Given the description of an element on the screen output the (x, y) to click on. 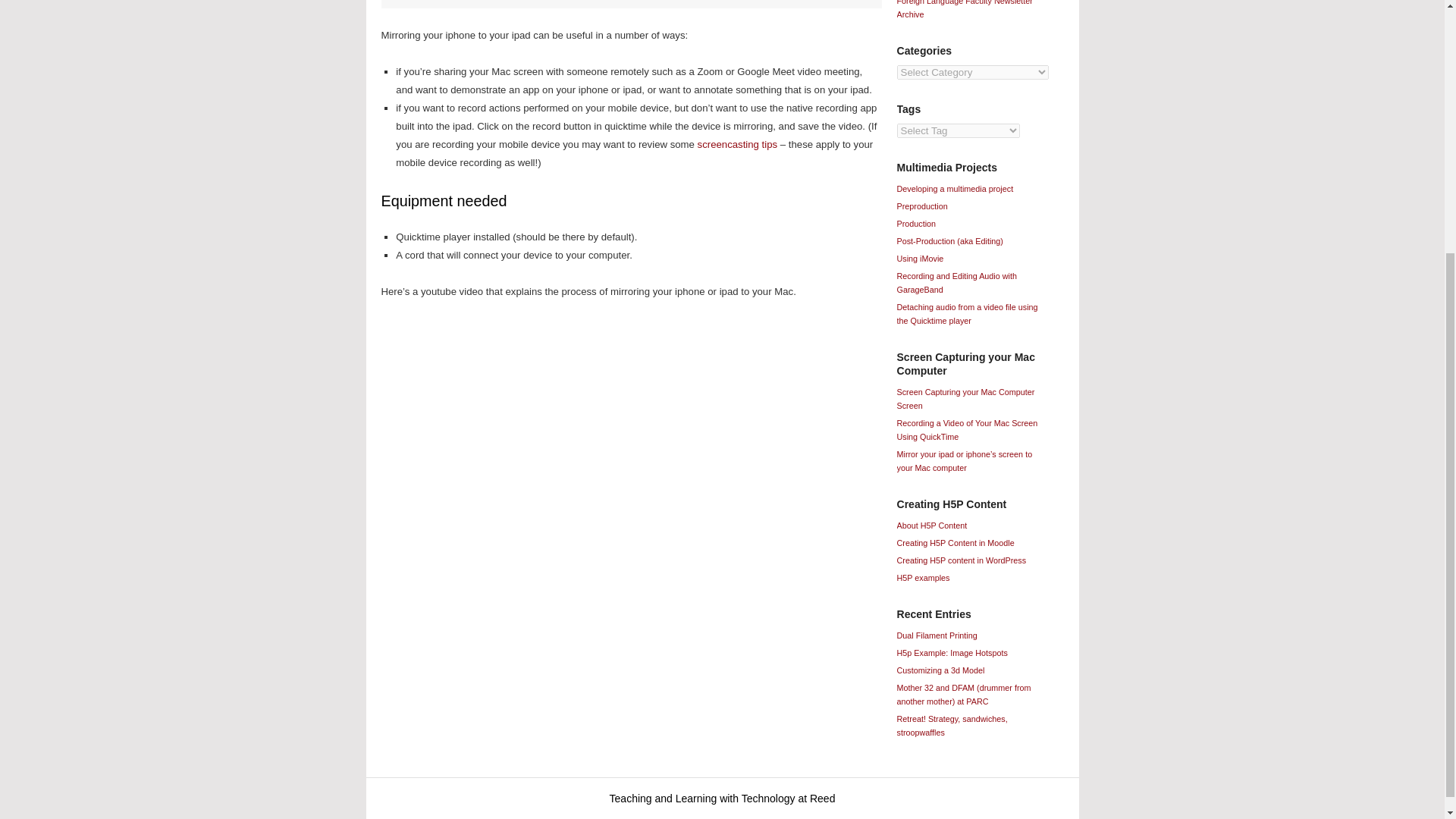
Screen Capturing your Mac Computer Screen (964, 398)
Foreign Language Faculty Newsletter Archive (964, 9)
Teaching and Learning with Technology at Reed (722, 798)
Recording a Video of Your Mac Screen Using QuickTime (966, 429)
H5P examples (922, 577)
Creating H5P Content in Moodle (954, 542)
Production (916, 223)
Using iMovie (919, 257)
screencasting tips (737, 143)
About H5P Content (931, 524)
Recording and Editing Audio with GarageBand (956, 282)
Customizing a 3d Model (940, 669)
Creating H5P content in WordPress (961, 560)
Dual Filament Printing (936, 634)
Preproduction (921, 205)
